Given the description of an element on the screen output the (x, y) to click on. 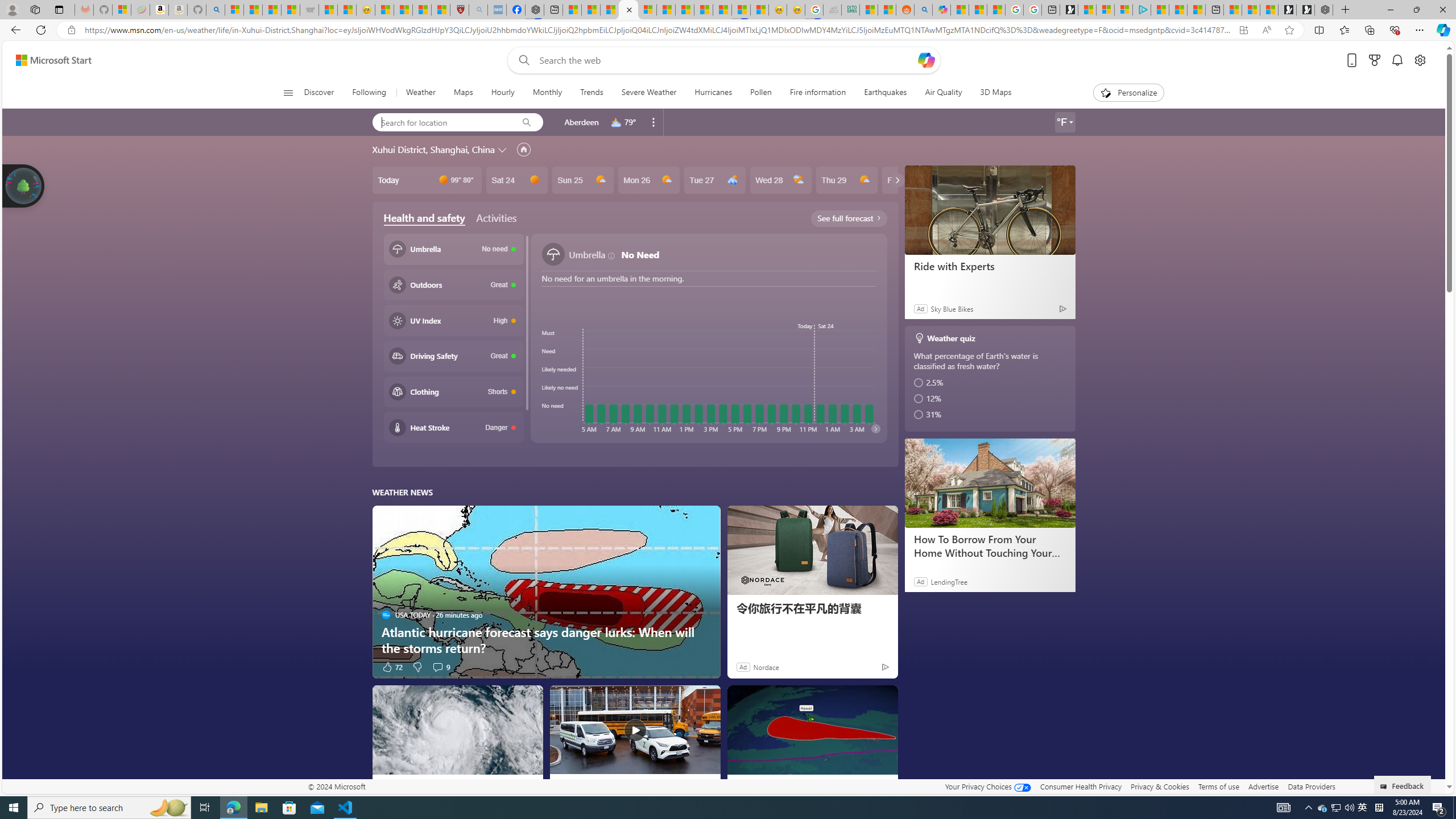
Wed 28 (779, 180)
Ride with Experts (988, 265)
Class: feedback_link_icon-DS-EntryPoint1-1 (1384, 786)
Hurricanes (713, 92)
3D Maps (991, 92)
Monthly (547, 92)
Sun 25 (581, 180)
Heat stroke Danger (453, 427)
